Given the description of an element on the screen output the (x, y) to click on. 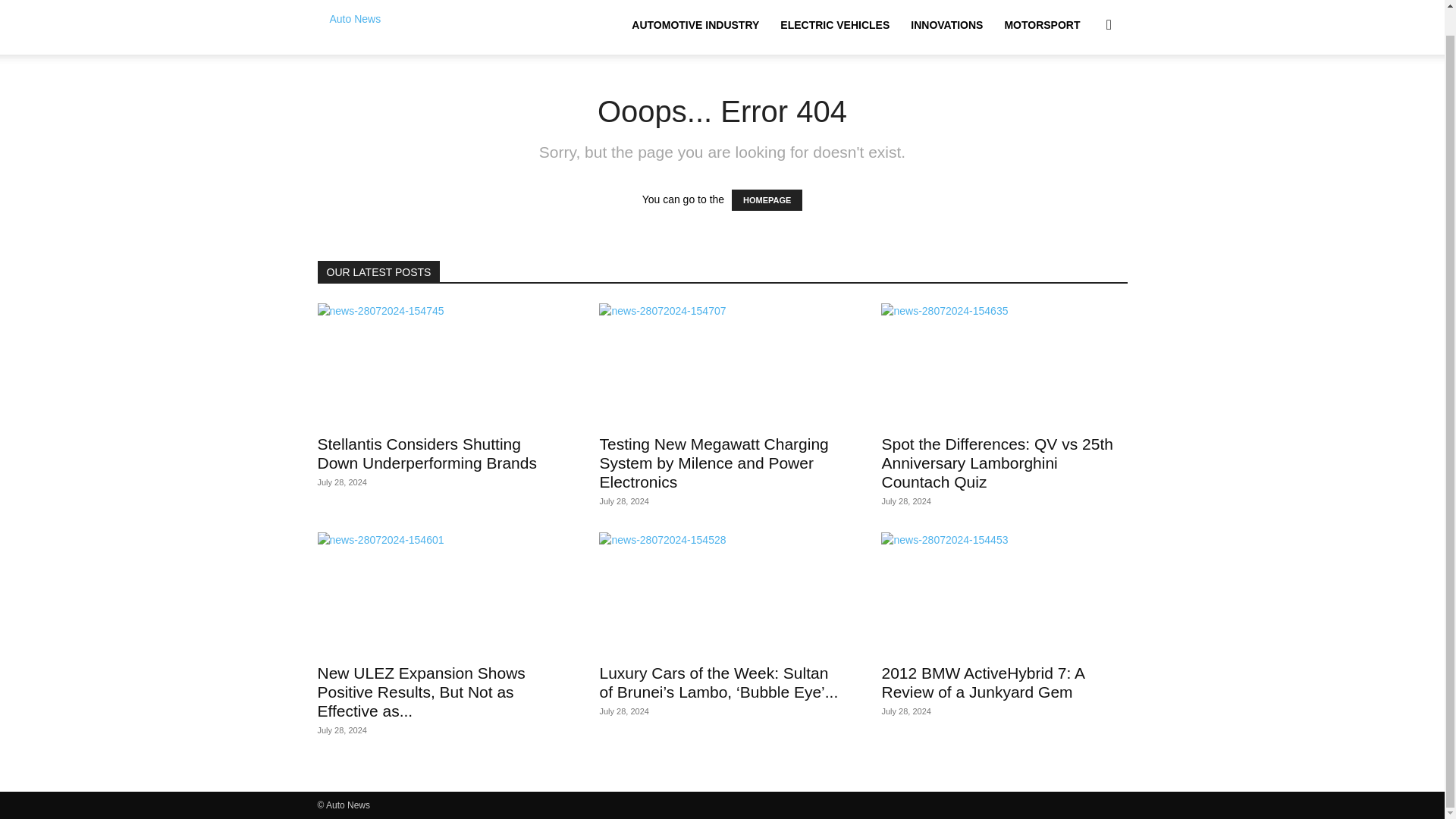
Stellantis Considers Shutting Down Underperforming Brands (426, 452)
ELECTRIC VEHICLES (834, 27)
Search (1085, 96)
2012 BMW ActiveHybrid 7: A Review of a Junkyard Gem (981, 682)
MOTORSPORT (1041, 27)
Stellantis Considers Shutting Down Underperforming Brands (439, 364)
AUTOMOTIVE INDUSTRY (695, 27)
HOMEPAGE (767, 199)
